Given the description of an element on the screen output the (x, y) to click on. 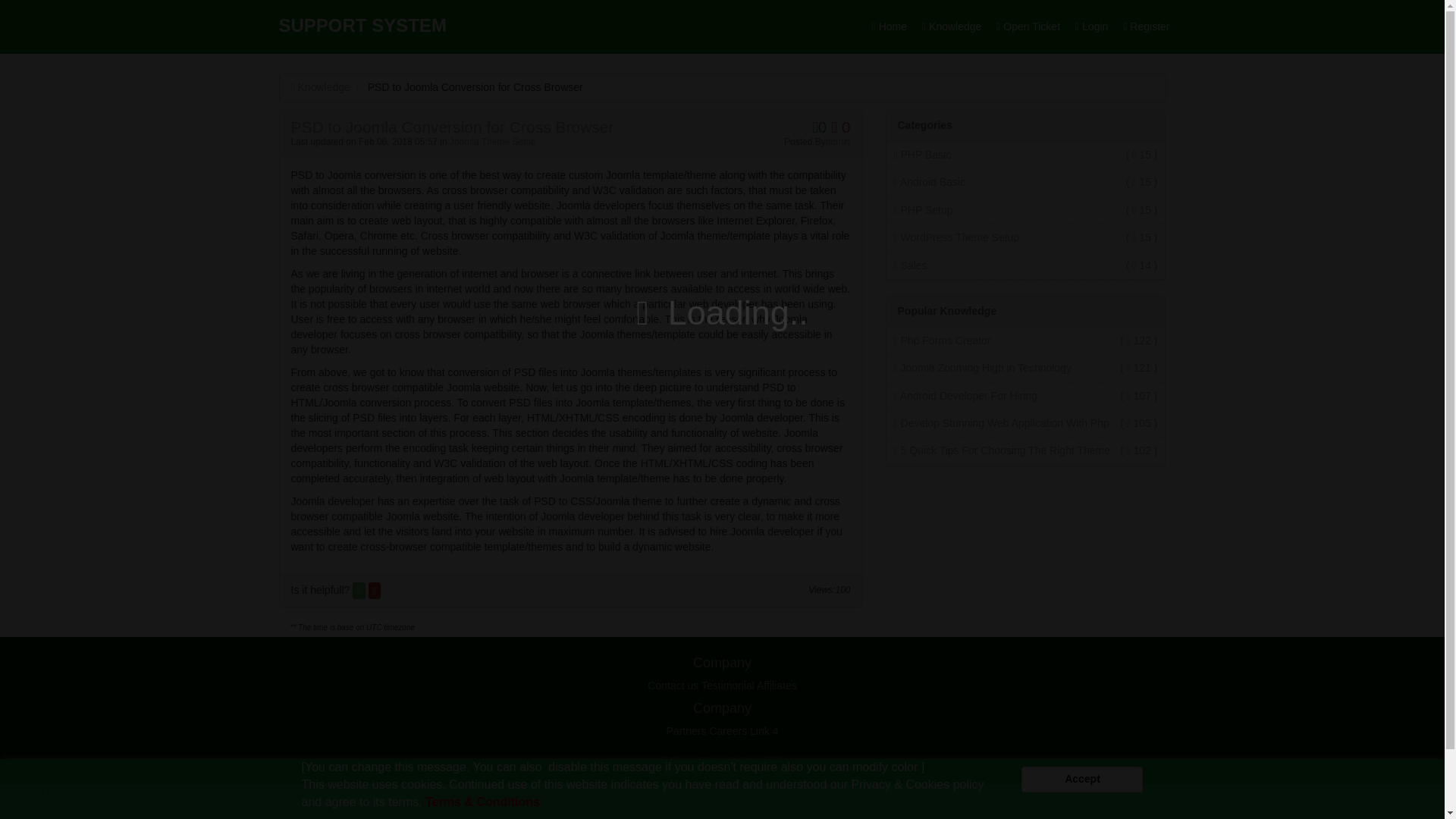
Open Ticket (1027, 26)
Knowledge (320, 87)
Best Support System (747, 773)
Knowledge (951, 26)
admin (837, 141)
Joomla Theme Setup (492, 141)
Careers (727, 730)
Partners (686, 730)
Theme 2020 (97, 806)
Home (889, 26)
appsbd.com (735, 760)
Affiliates (776, 685)
Link 4 (763, 730)
Login (1091, 26)
Contact us (672, 685)
